Given the description of an element on the screen output the (x, y) to click on. 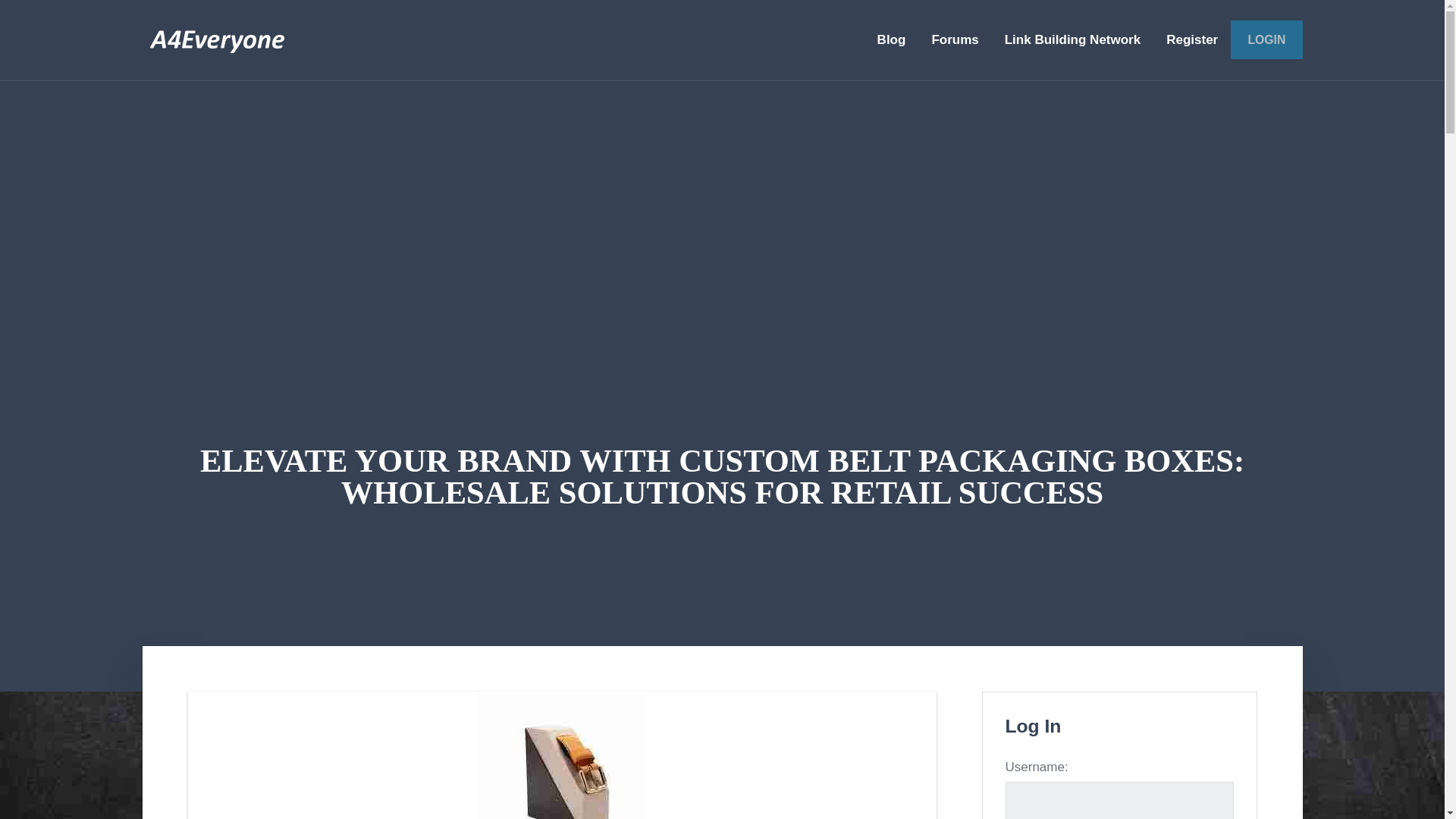
Link Building Network (1072, 40)
LOGIN (1265, 39)
Register (1191, 40)
Forums (954, 40)
